Given the description of an element on the screen output the (x, y) to click on. 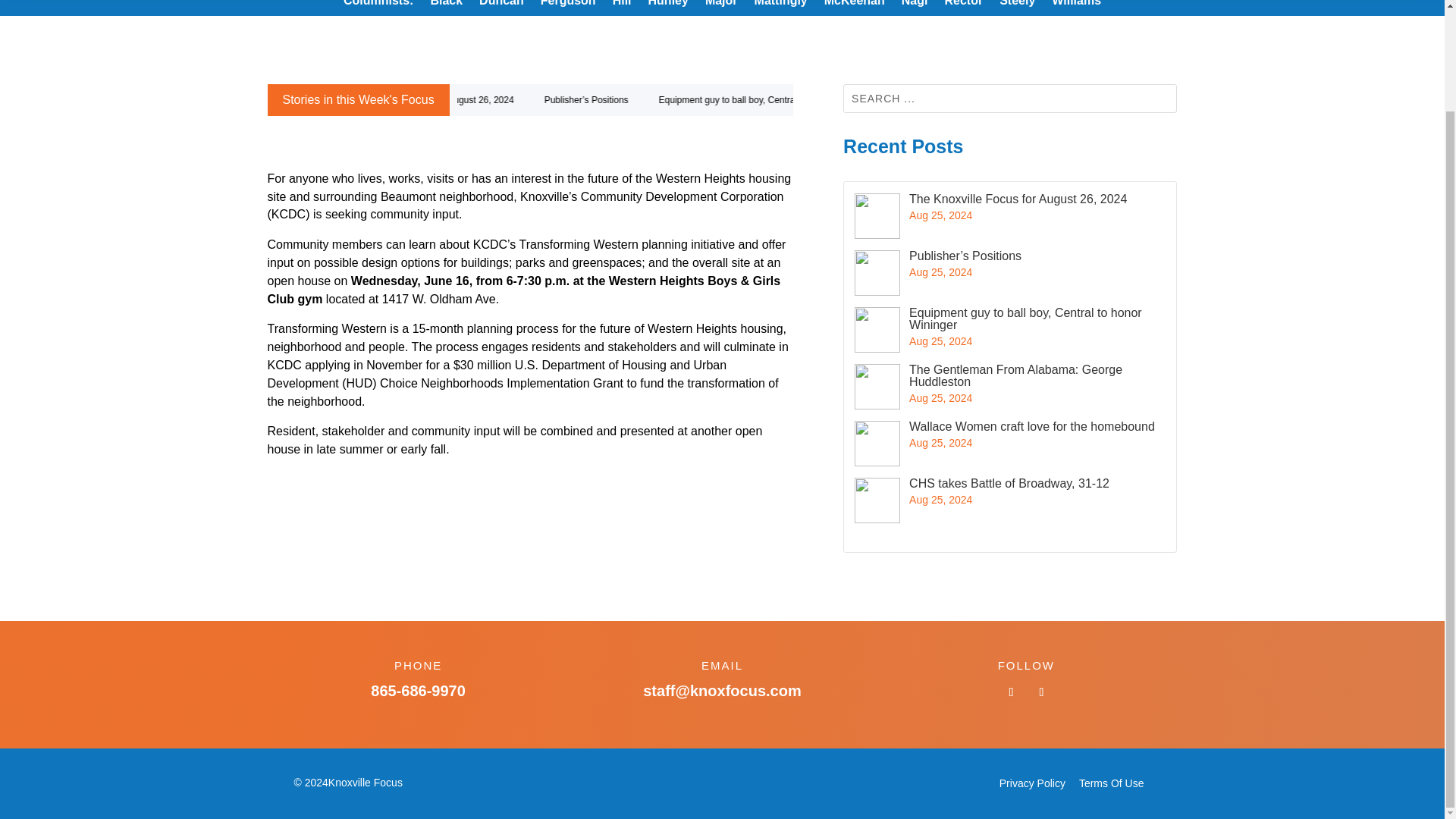
Mattingly (781, 6)
McKeehan (854, 6)
Follow on X (1040, 692)
Duncan (501, 6)
Hill (621, 6)
Hunley (667, 6)
Major (721, 6)
Ferguson (567, 6)
Nagi (914, 6)
Steely (1016, 6)
